Given the description of an element on the screen output the (x, y) to click on. 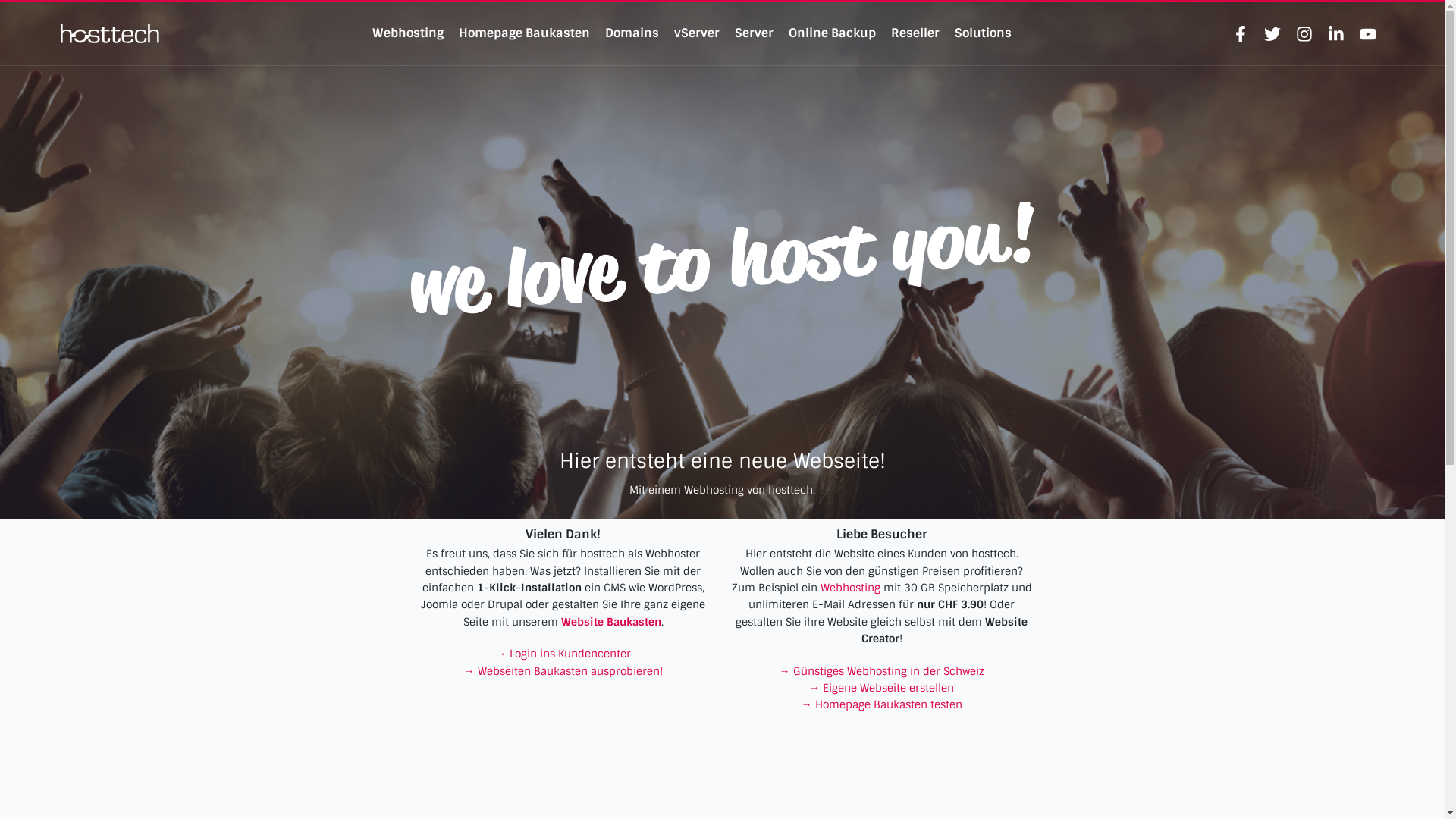
Online Backup Element type: text (831, 32)
Webhosting Element type: text (407, 32)
Server Element type: text (753, 32)
Solutions Element type: text (982, 32)
Webhosting Element type: text (850, 587)
Homepage Baukasten Element type: text (523, 32)
Website Baukasten Element type: text (611, 621)
Reseller Element type: text (915, 32)
vServer Element type: text (696, 32)
Domains Element type: text (631, 32)
